Given the description of an element on the screen output the (x, y) to click on. 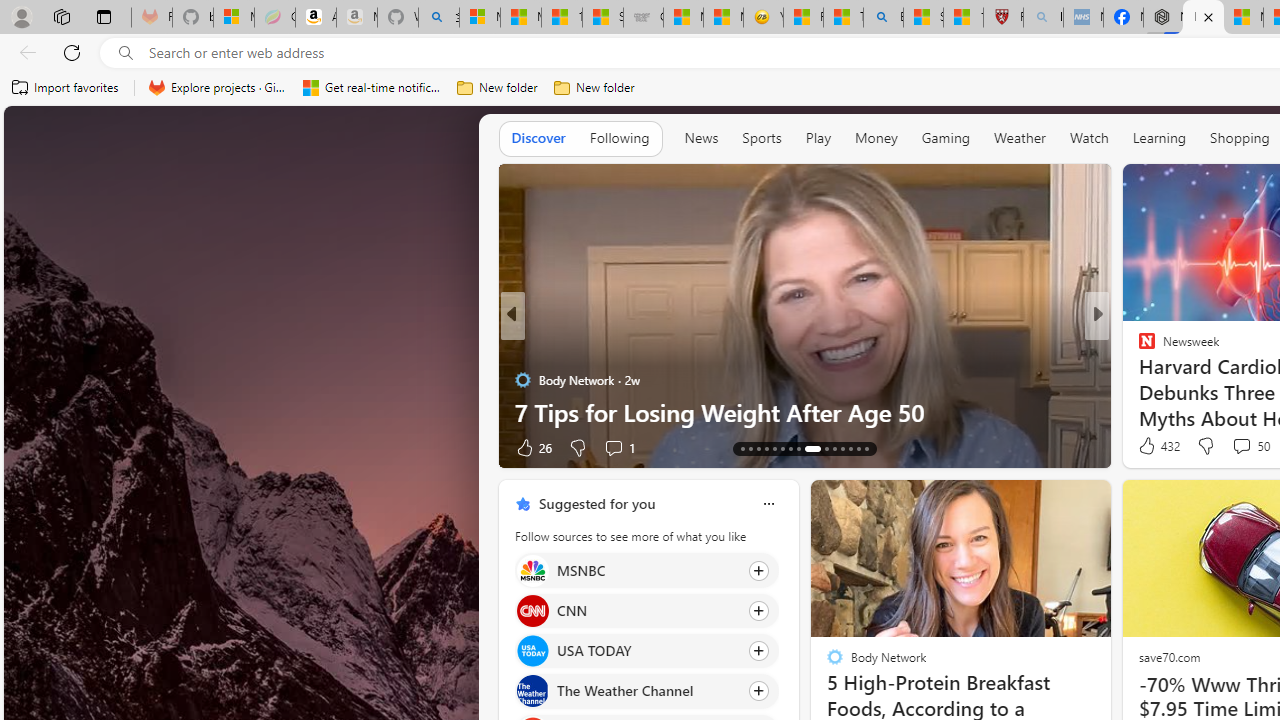
View comments 6 Comment (1234, 447)
Microsoft account | Privacy (479, 17)
Click to follow source The Weather Channel (646, 691)
View comments 12 Comment (11, 447)
7 Tips for Losing Weight After Age 50 (804, 411)
Money (876, 138)
Learning (1159, 138)
View comments 1 Comment (618, 447)
Suggested for you (596, 503)
AutomationID: tab-69 (765, 448)
AutomationID: tab-78 (850, 448)
AutomationID: tab-77 (842, 448)
26 Like (532, 447)
